Given the description of an element on the screen output the (x, y) to click on. 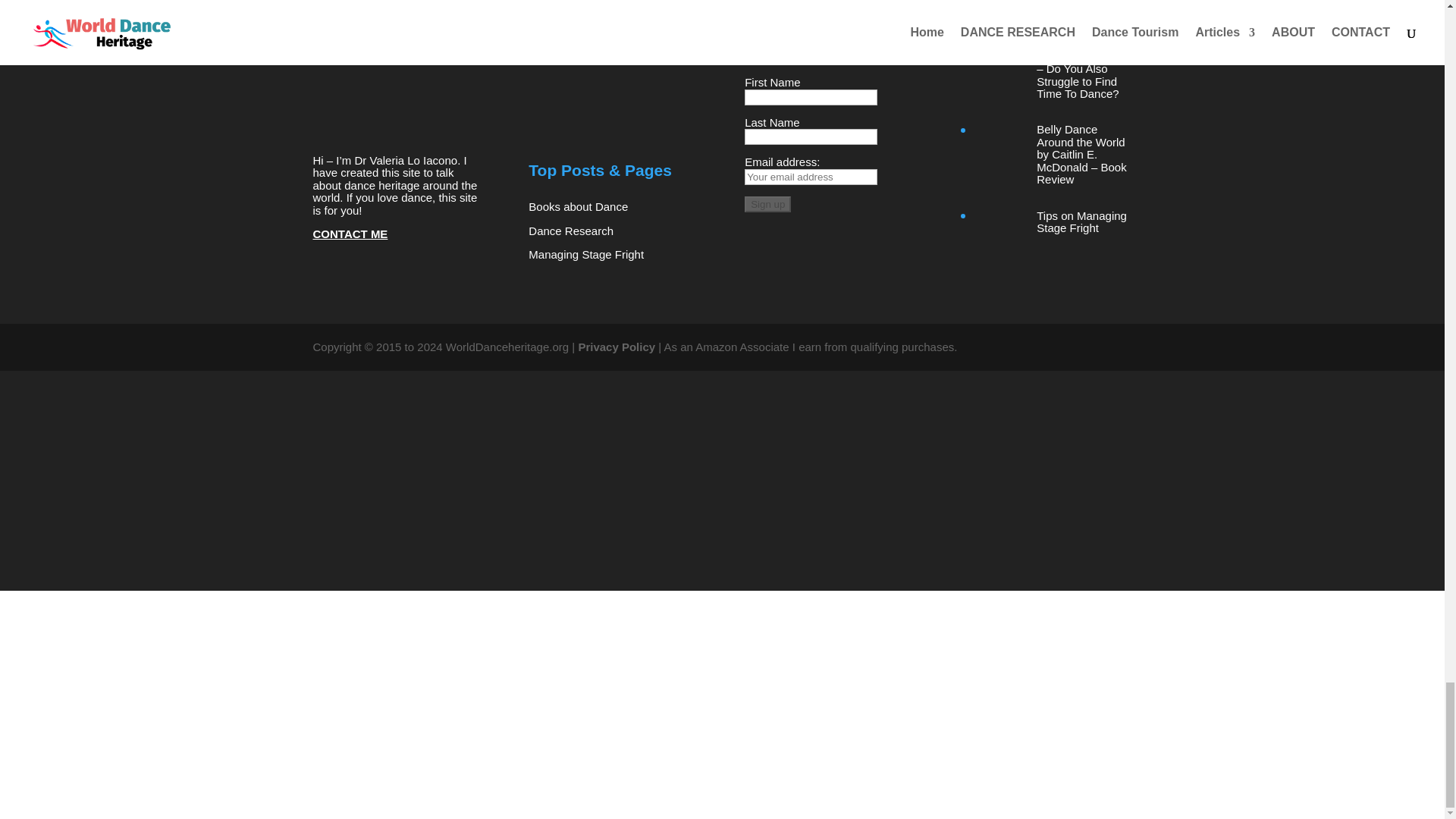
Sign up (767, 204)
